Given the description of an element on the screen output the (x, y) to click on. 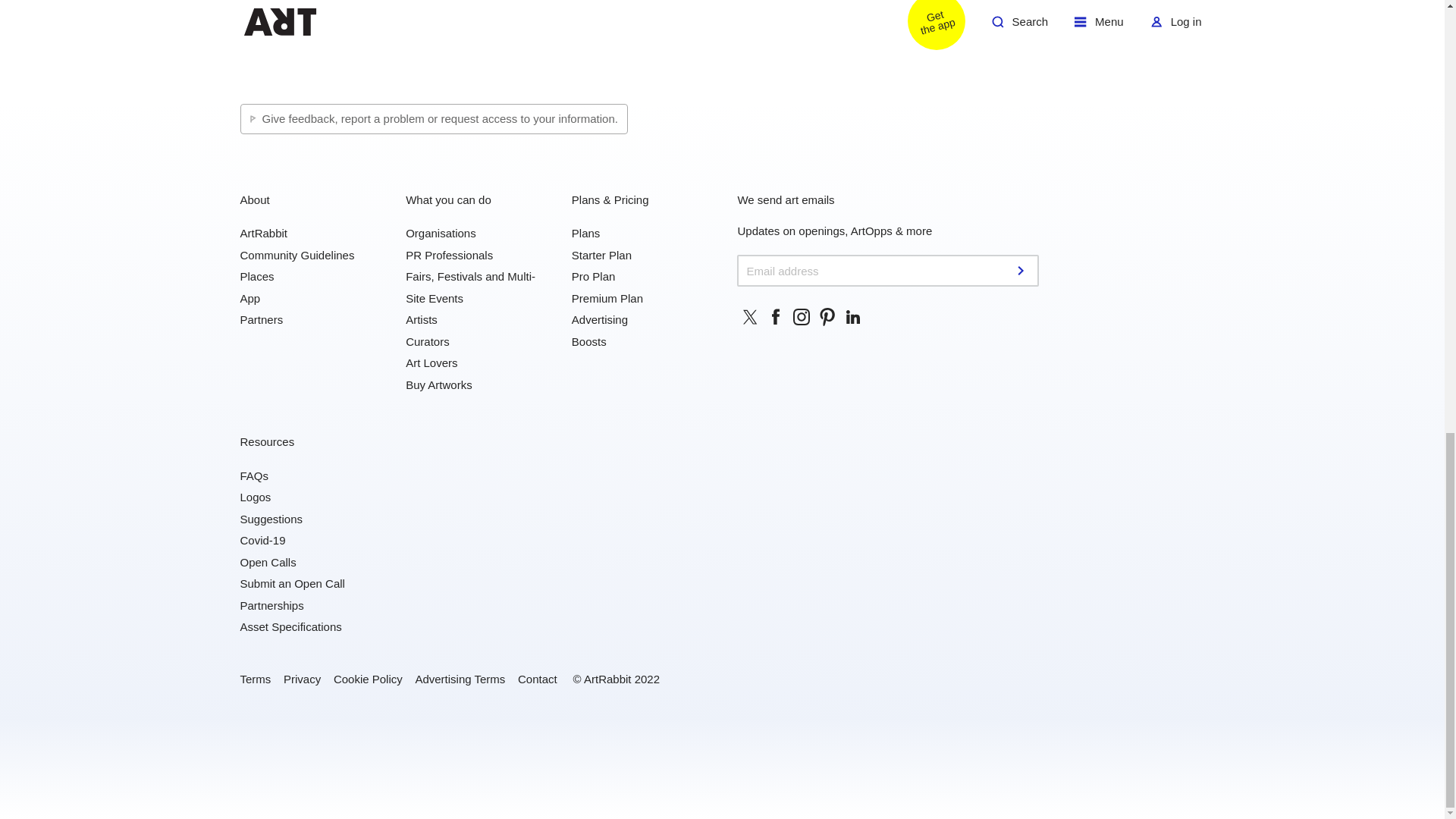
submit (1021, 270)
